Given the description of an element on the screen output the (x, y) to click on. 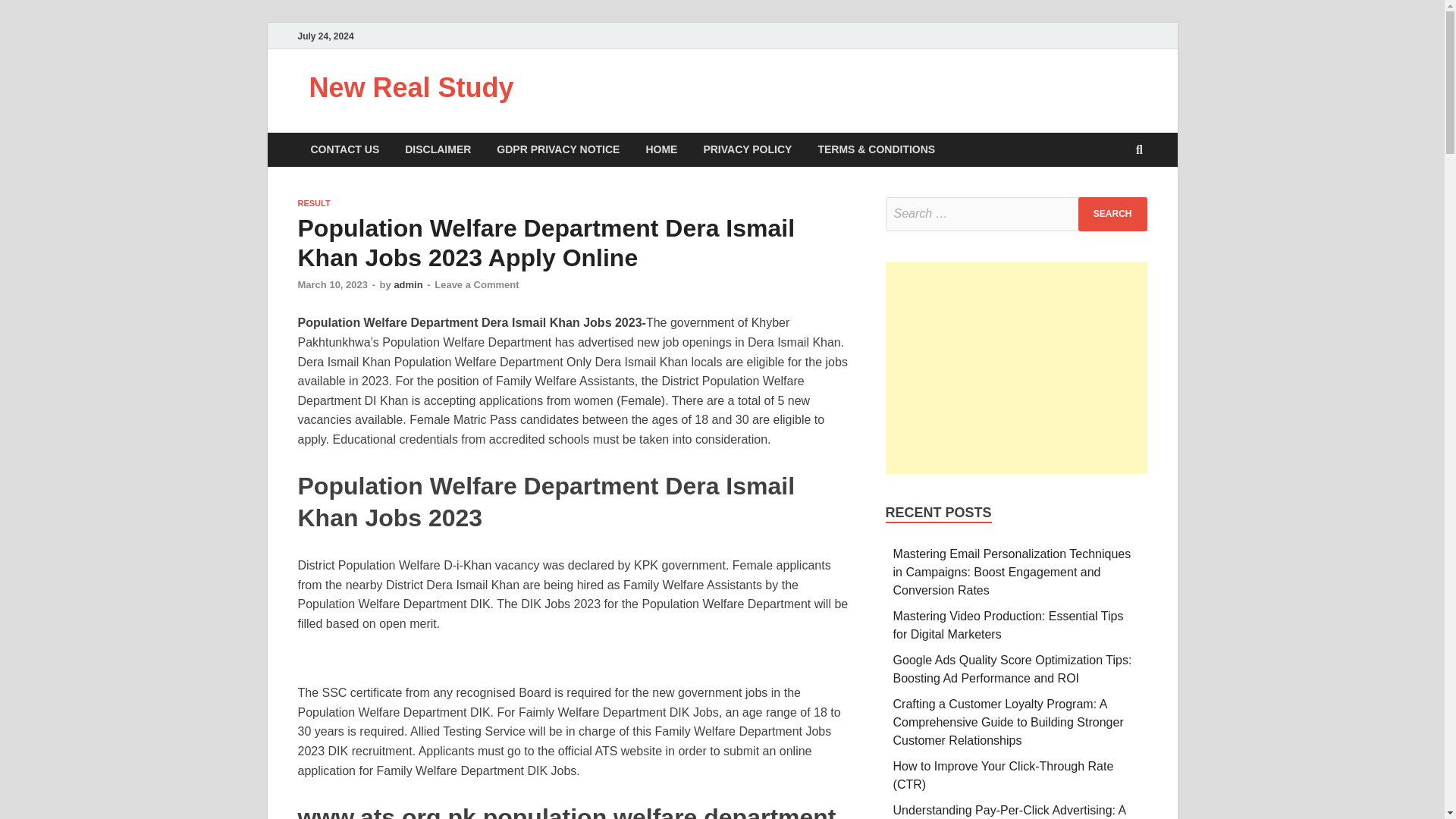
Search (1112, 213)
March 10, 2023 (332, 284)
GDPR PRIVACY NOTICE (557, 149)
CONTACT US (344, 149)
Search (1112, 213)
RESULT (313, 203)
DISCLAIMER (437, 149)
New Real Study (410, 87)
Leave a Comment (475, 284)
Search (1112, 213)
admin (407, 284)
